Given the description of an element on the screen output the (x, y) to click on. 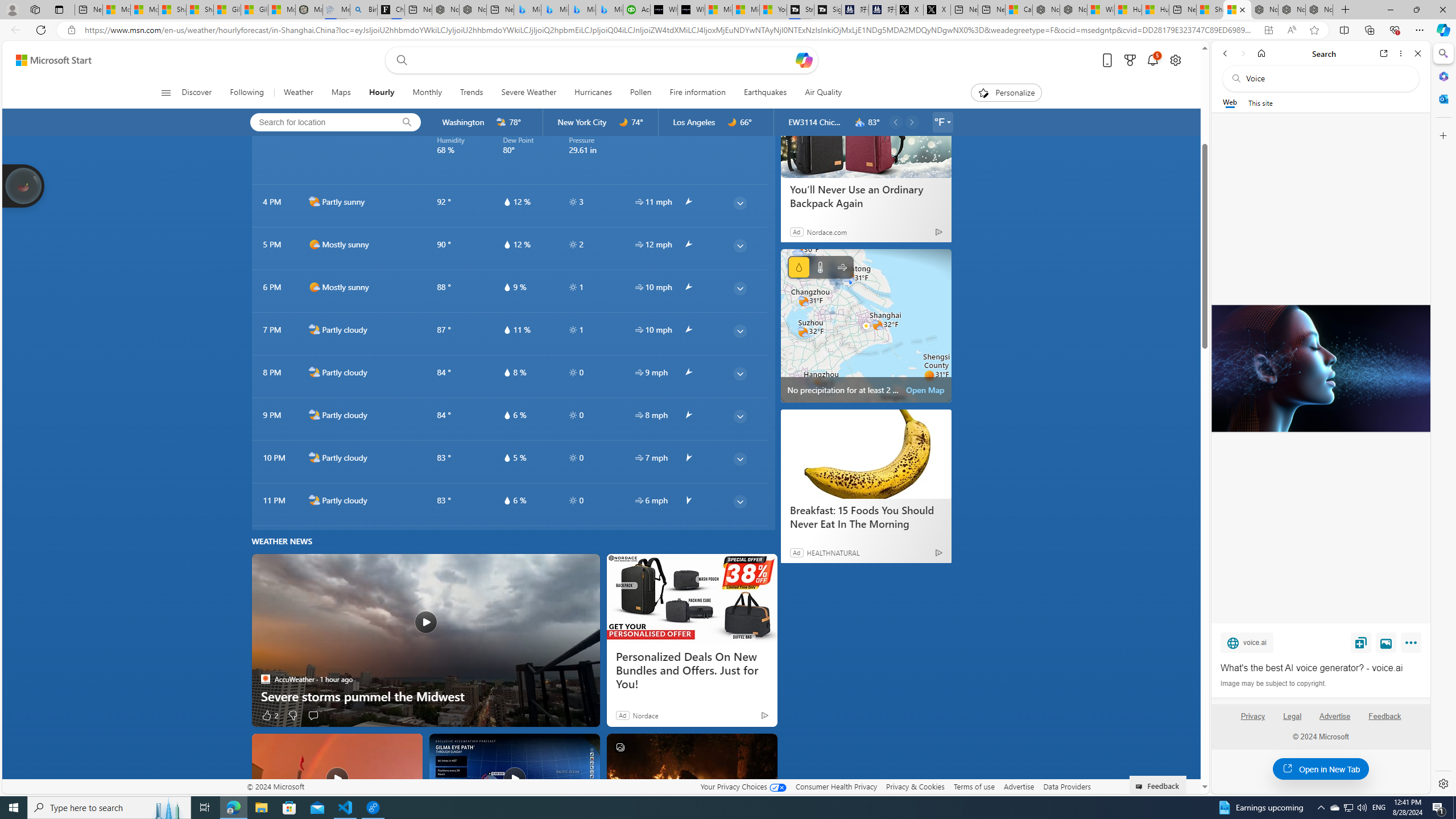
Open in New Tab (1321, 768)
Web scope (1230, 102)
Trends (471, 92)
Side bar (1443, 418)
No precipitation for at least 2 hours (866, 325)
Privacy & Cookies (915, 786)
